Given the description of an element on the screen output the (x, y) to click on. 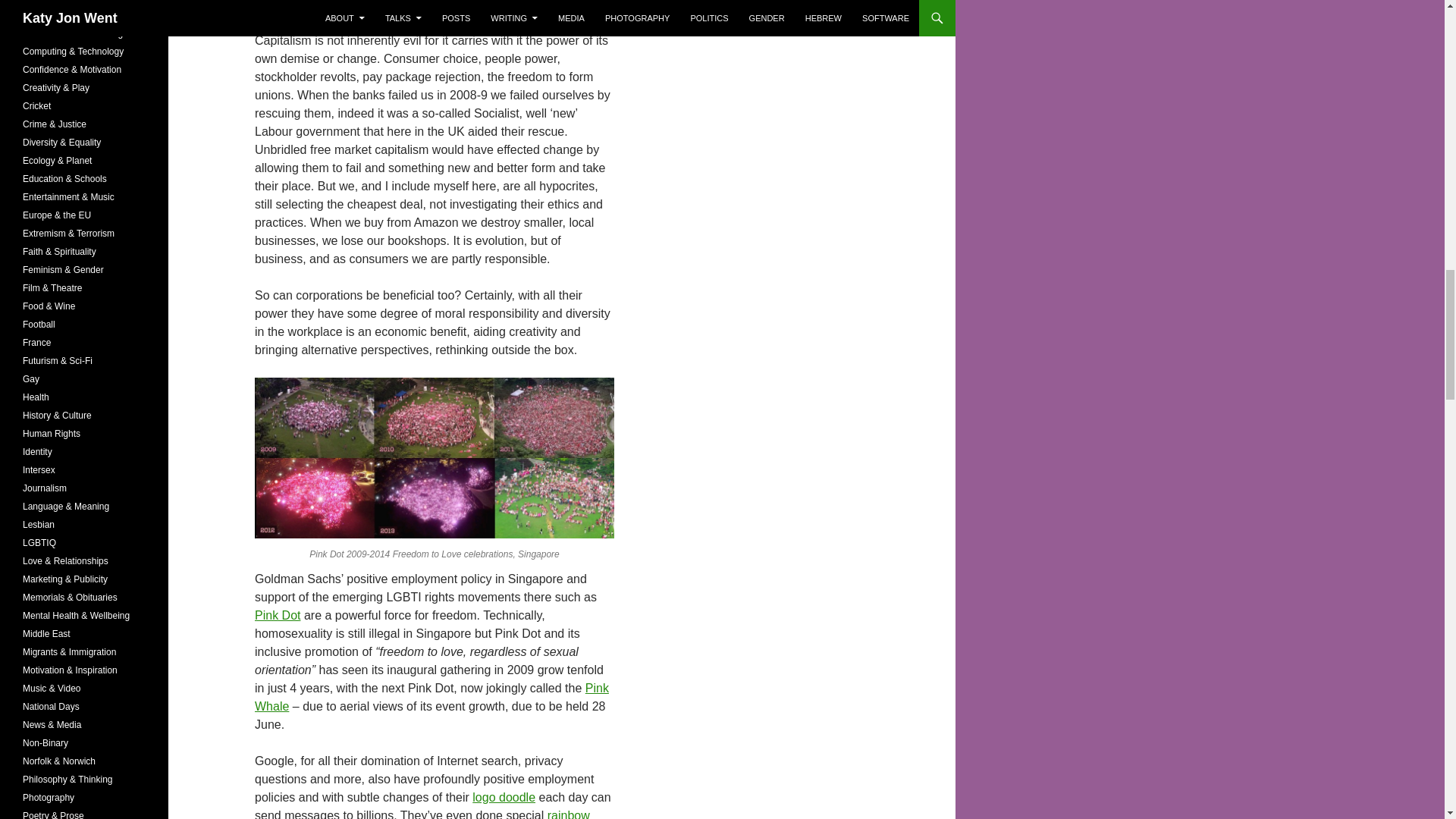
BBC report on the first 2009 Pink Dot (431, 696)
Google doodle goes LGBT gay for Sochi Olympics (503, 797)
Pink Whale (431, 696)
Pink Dot (276, 615)
Rainbow search terms on Google (421, 814)
Pink Dot Singapore website (276, 615)
logo doodle (503, 797)
